Given the description of an element on the screen output the (x, y) to click on. 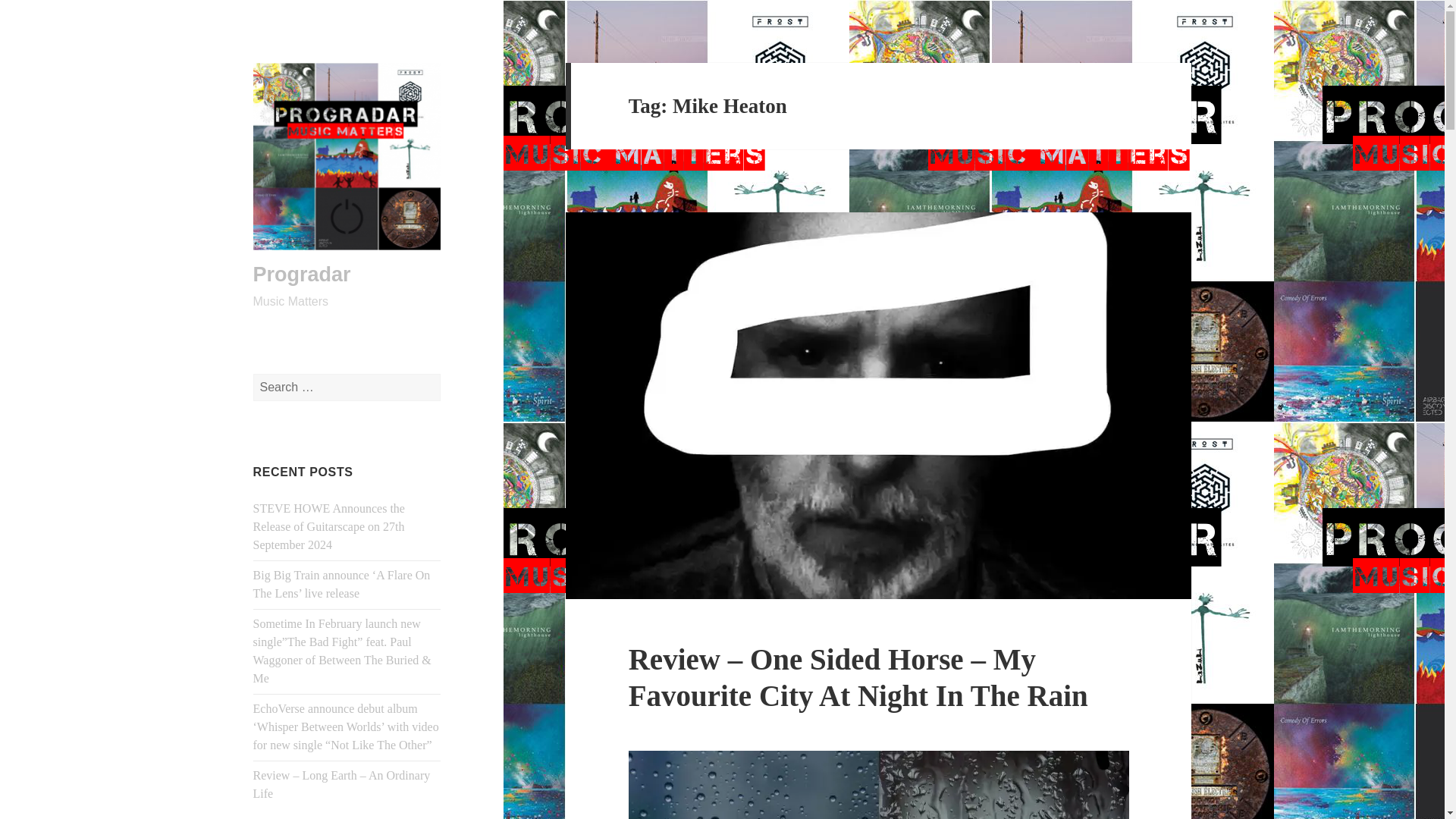
Progradar (301, 273)
